Given the description of an element on the screen output the (x, y) to click on. 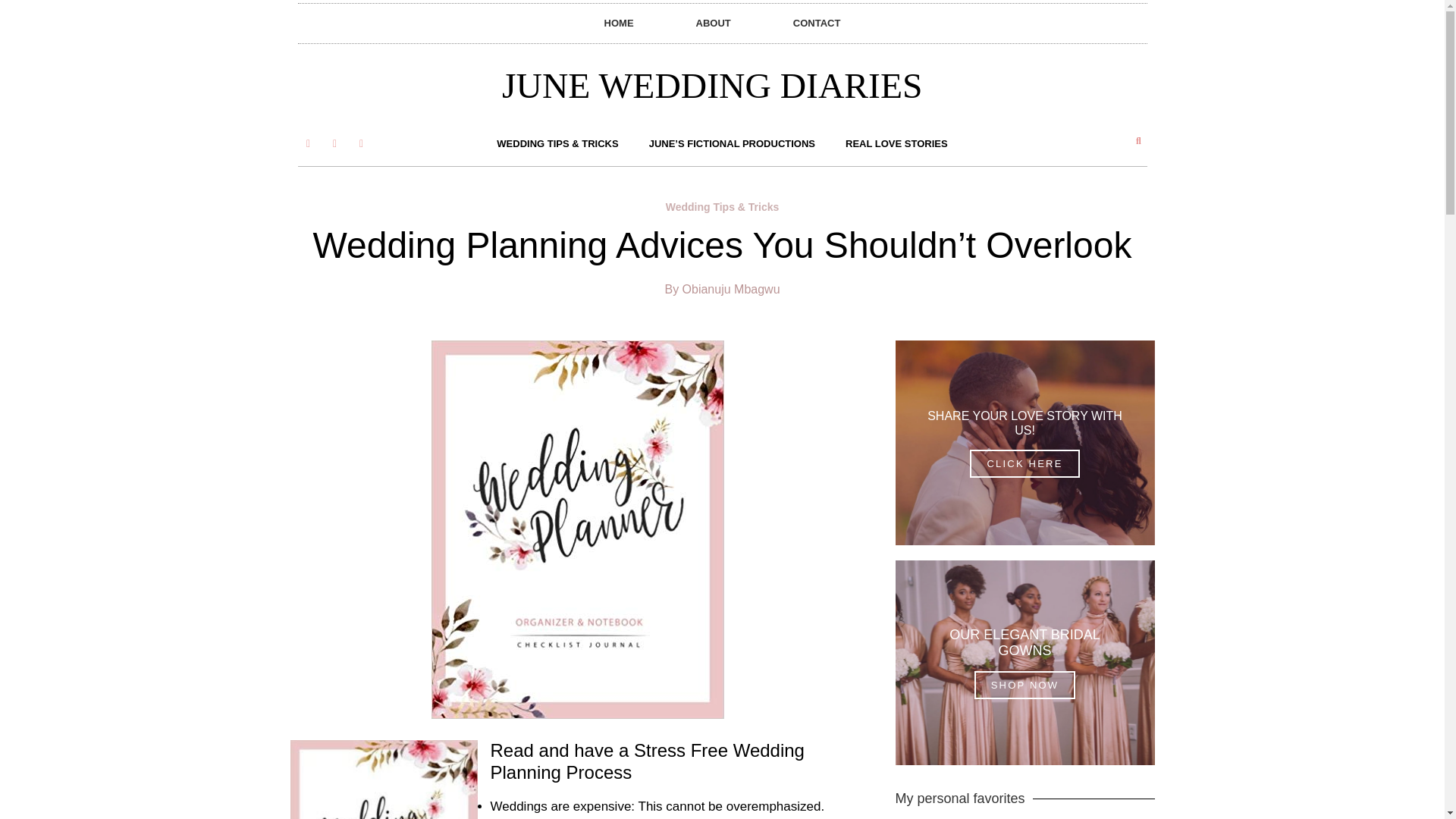
SHOP NOW (1024, 684)
By Obianuju Mbagwu (720, 289)
REAL LOVE STORIES (895, 143)
HOME (619, 23)
CLICK HERE (1023, 463)
ABOUT (713, 23)
CONTACT (816, 23)
